Given the description of an element on the screen output the (x, y) to click on. 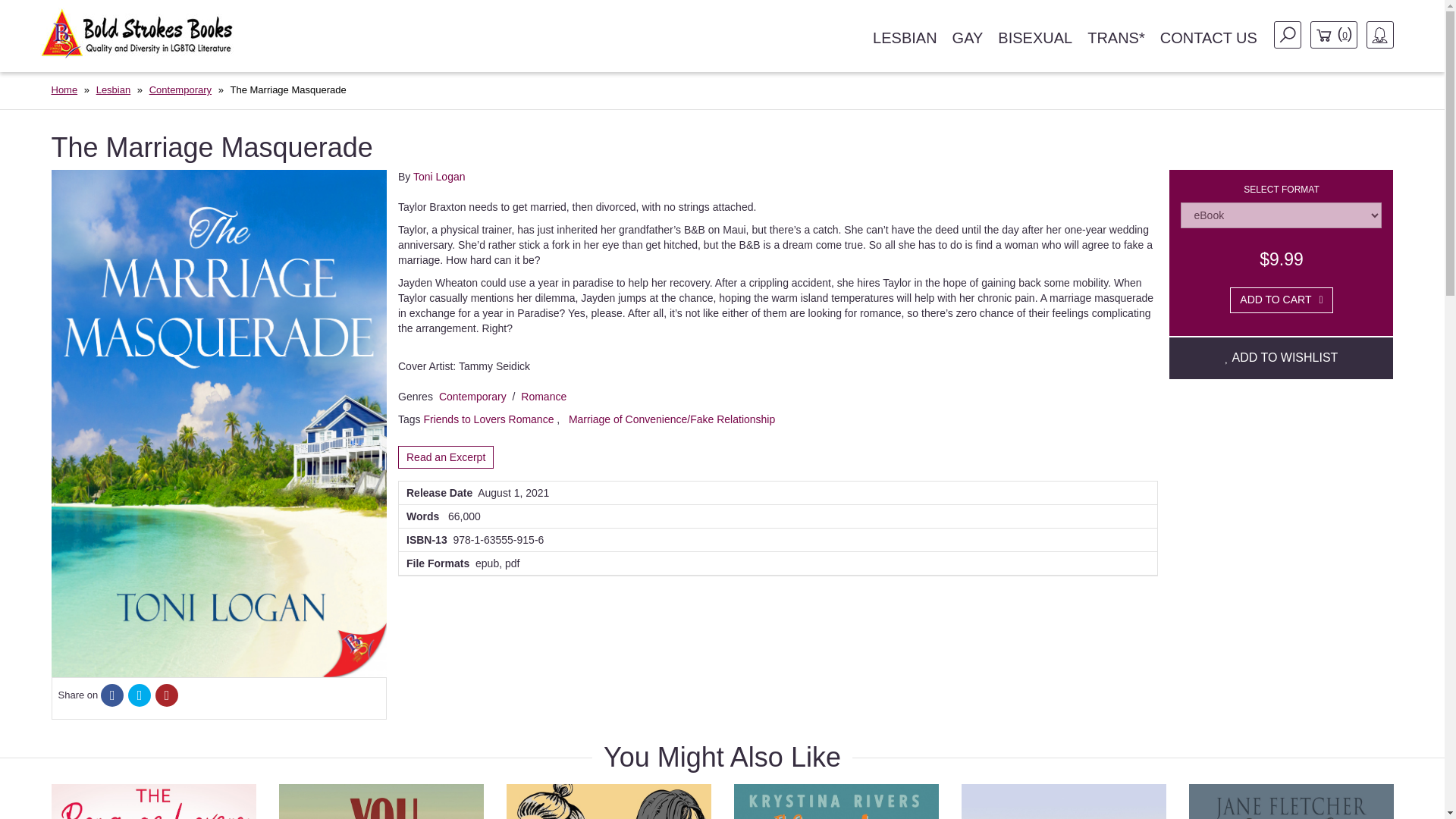
Contemporary (180, 89)
Toni Logan (439, 176)
ADD TO CART (1281, 299)
Friends to Lovers Romance (488, 419)
GAY (967, 37)
ADD TO CART (1281, 299)
Lesbian (113, 89)
BISEXUAL (1035, 37)
Romance (543, 396)
Pinterest (166, 695)
